Given the description of an element on the screen output the (x, y) to click on. 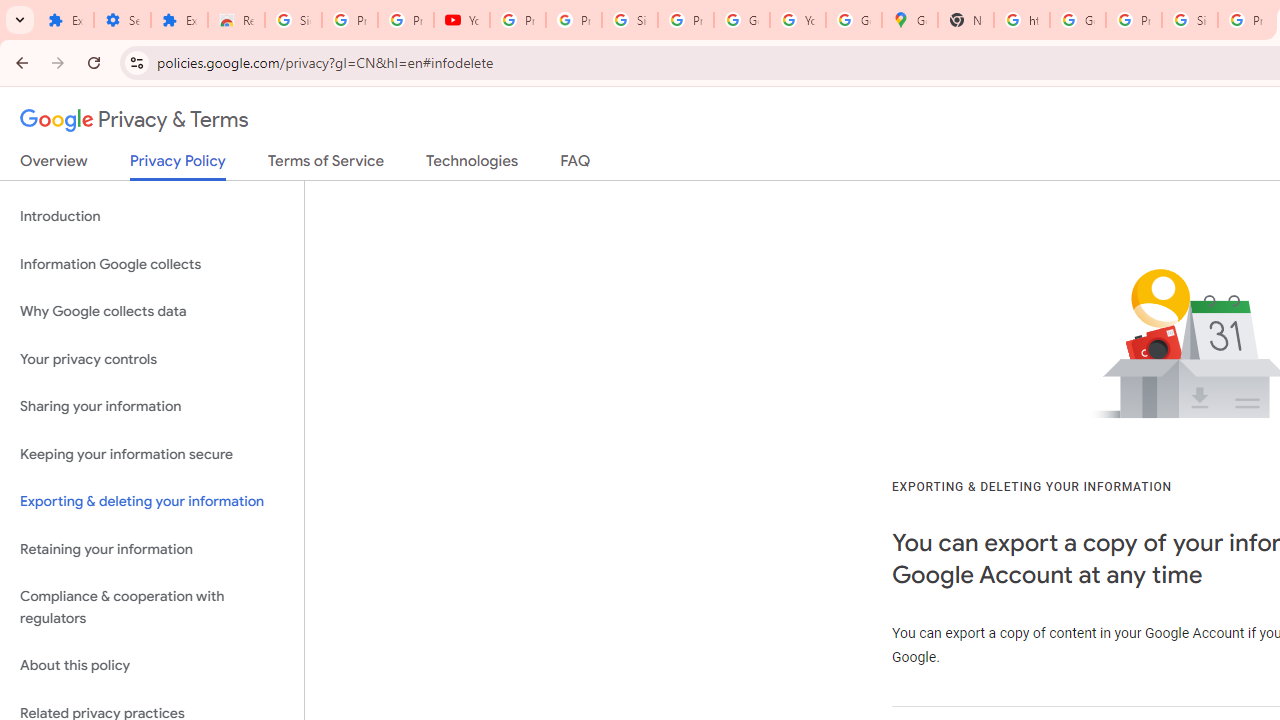
Keeping your information secure (152, 453)
Google Maps (909, 20)
Extensions (179, 20)
YouTube (461, 20)
New Tab (966, 20)
Sign in - Google Accounts (293, 20)
